Given the description of an element on the screen output the (x, y) to click on. 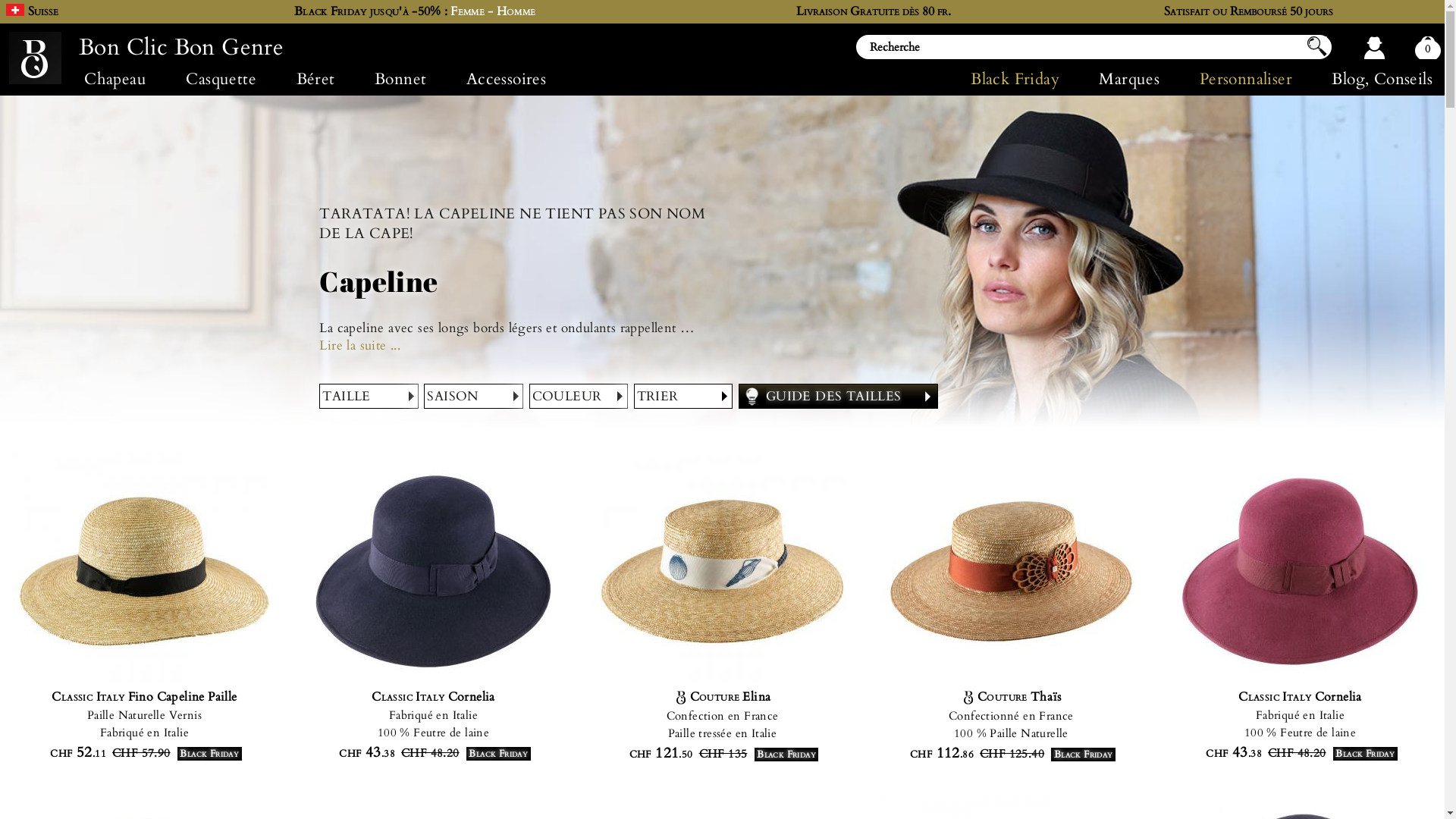
Classic ItalyFino Capeline Paille Element type: text (144, 696)
Accessoires Element type: text (506, 78)
Suisse Element type: text (43, 11)
Blog, Conseils Element type: text (1371, 78)
Bonnet Element type: text (400, 78)
CoutureElina Element type: text (722, 696)
COULEUR Element type: text (578, 395)
Classic ItalyCornelia Element type: text (433, 696)
Black Friday Element type: text (1024, 78)
TAILLE Element type: text (368, 395)
Chapeau Element type: text (115, 78)
SAISON Element type: text (473, 395)
Casquette Element type: text (221, 78)
Personnaliser Element type: text (1245, 78)
TRIER Element type: text (683, 395)
Marques Element type: text (1129, 78)
Classic ItalyCornelia Element type: text (1300, 696)
Lire la suite ... Element type: text (507, 345)
